Given the description of an element on the screen output the (x, y) to click on. 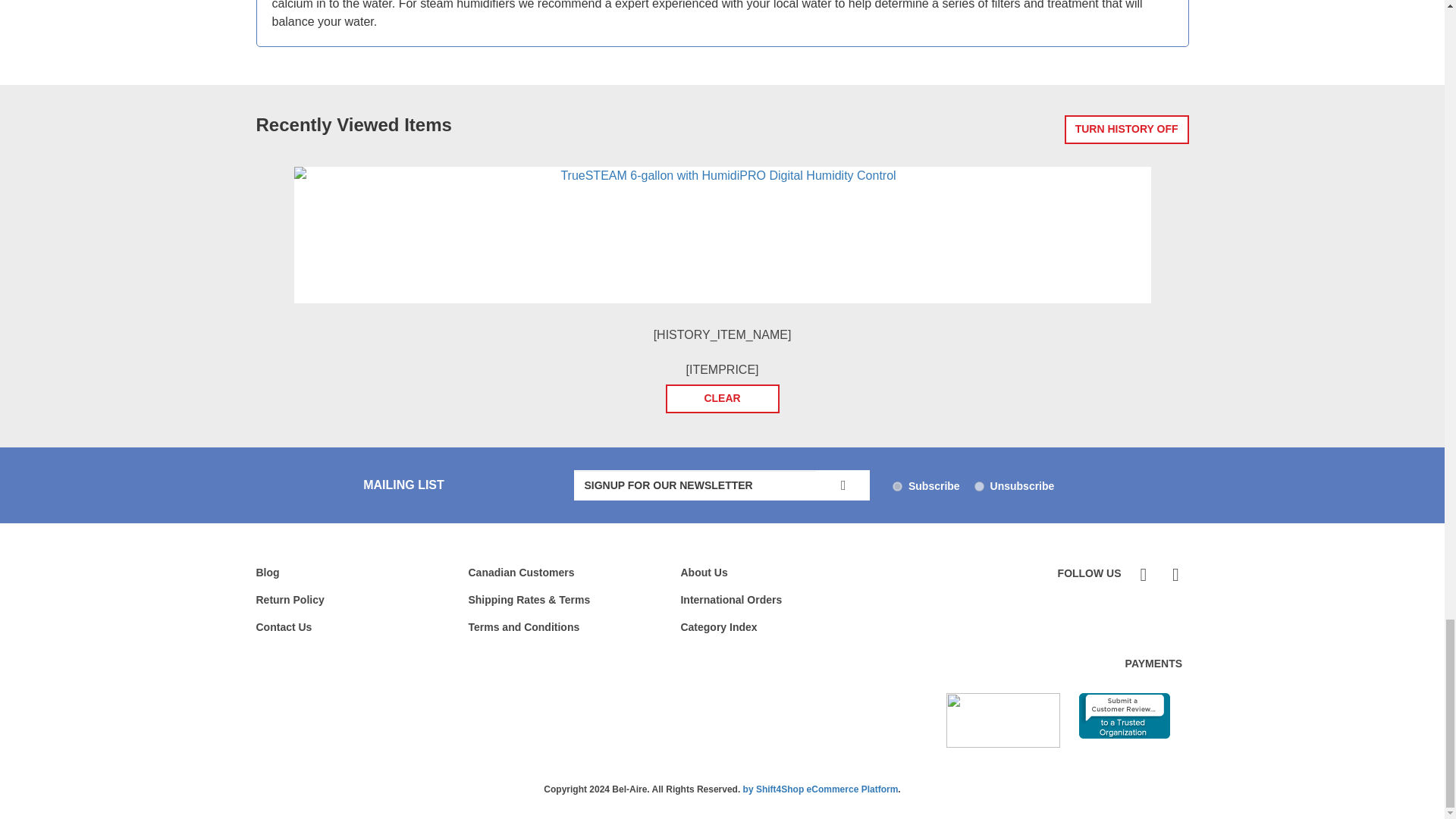
0 (979, 486)
Subscribe to our Channel (1173, 574)
Bel-Aire Company BBB Customer Reviews (1123, 715)
1 (897, 486)
Like Us on Facebook (1142, 574)
